Given the description of an element on the screen output the (x, y) to click on. 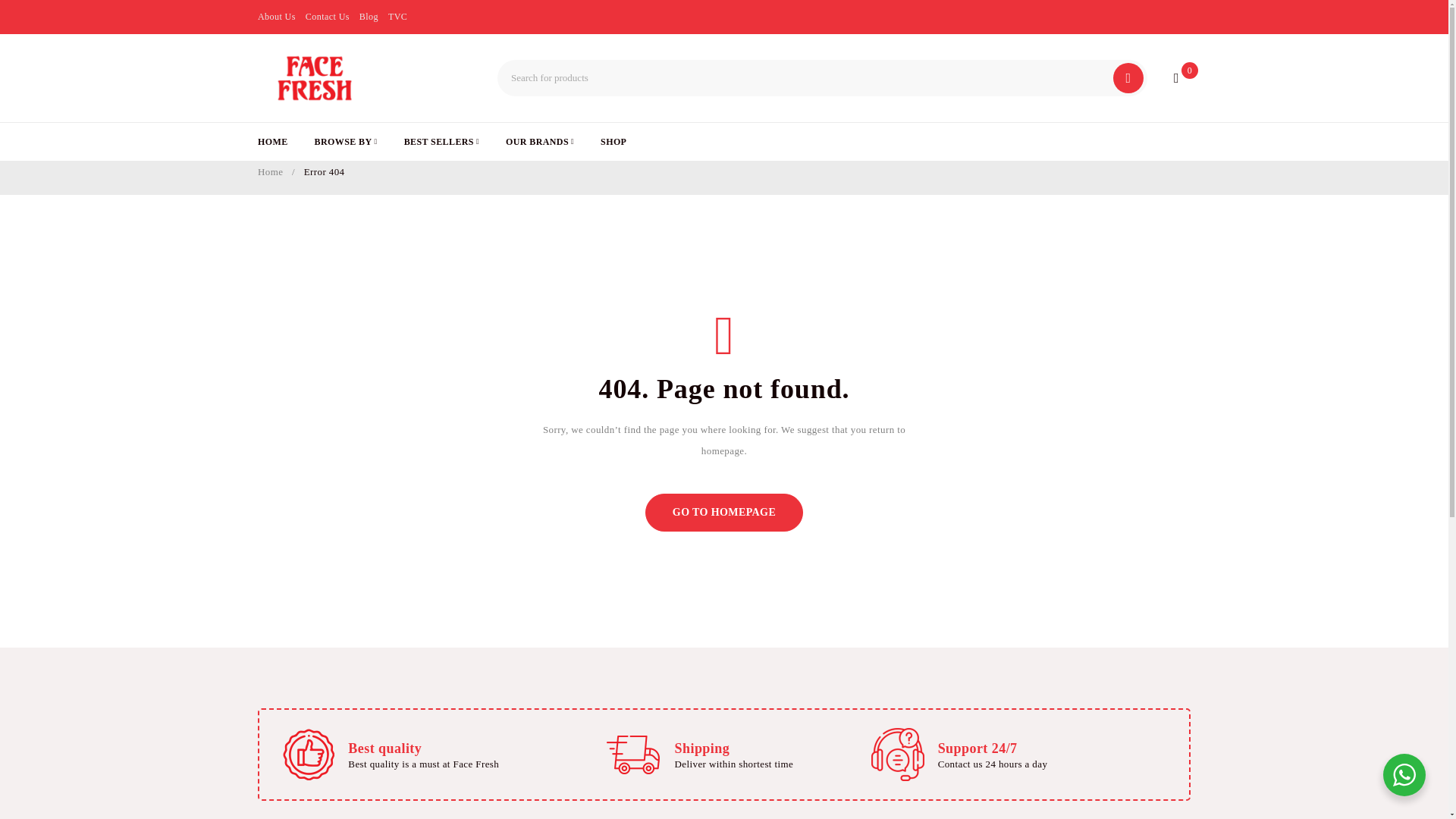
Contact Us (327, 16)
About Us (276, 16)
View your shopping cart (1174, 78)
0 (1174, 78)
TVC (397, 16)
Search (1127, 78)
Face Fresh (314, 78)
BROWSE BY (345, 141)
BEST SELLERS (441, 141)
Blog (368, 16)
Search (1127, 78)
Search (1127, 78)
HOME (272, 141)
